Given the description of an element on the screen output the (x, y) to click on. 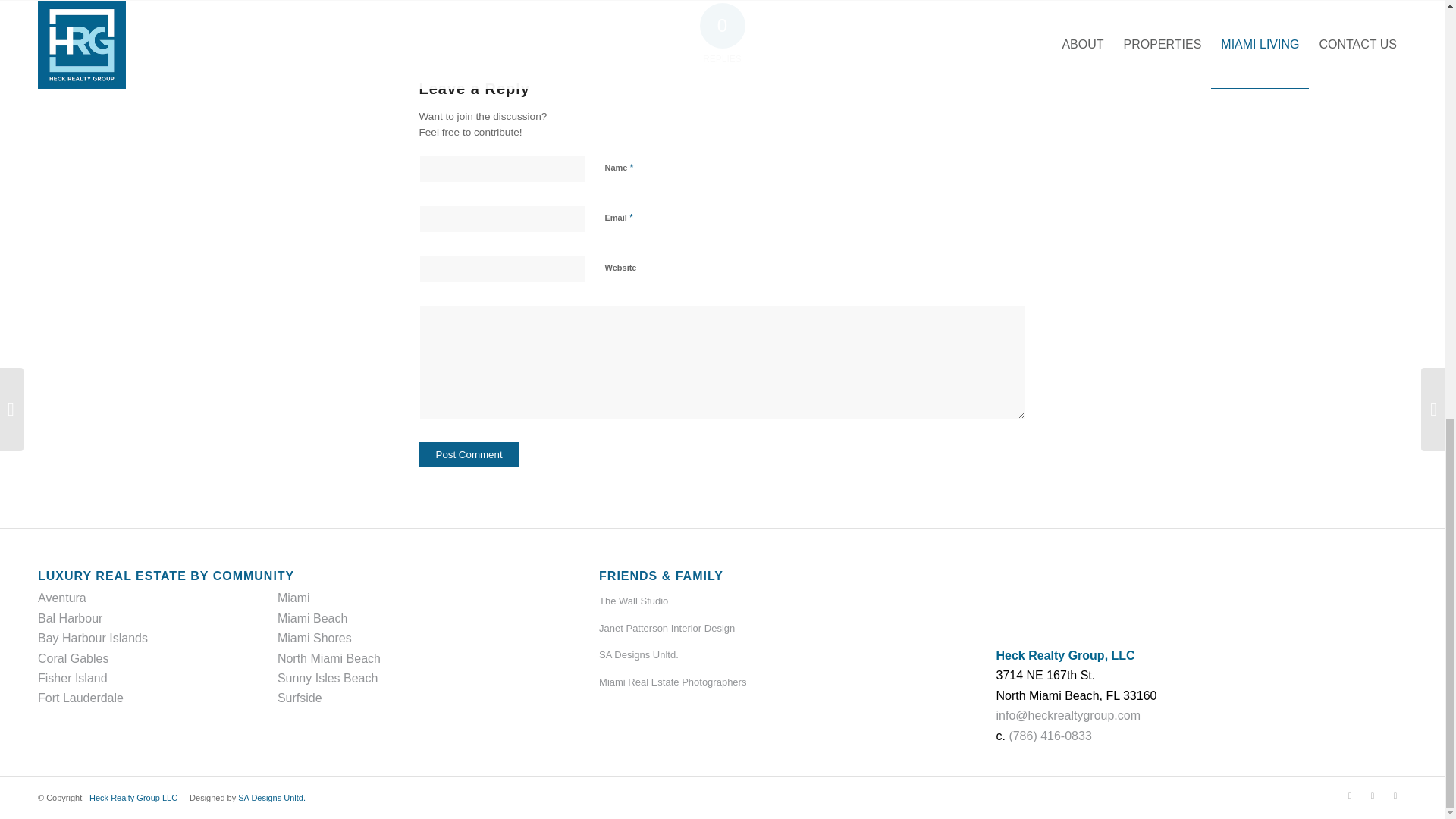
Miami Beach (312, 617)
Post Comment (468, 454)
Miami Shores (315, 637)
Sunny Isles Beach (328, 677)
Surfside (299, 697)
Bal Harbour (69, 617)
Bay Harbour Islands (92, 637)
Coral Gables (72, 658)
Fort Lauderdale (80, 697)
Aventura (61, 597)
